Given the description of an element on the screen output the (x, y) to click on. 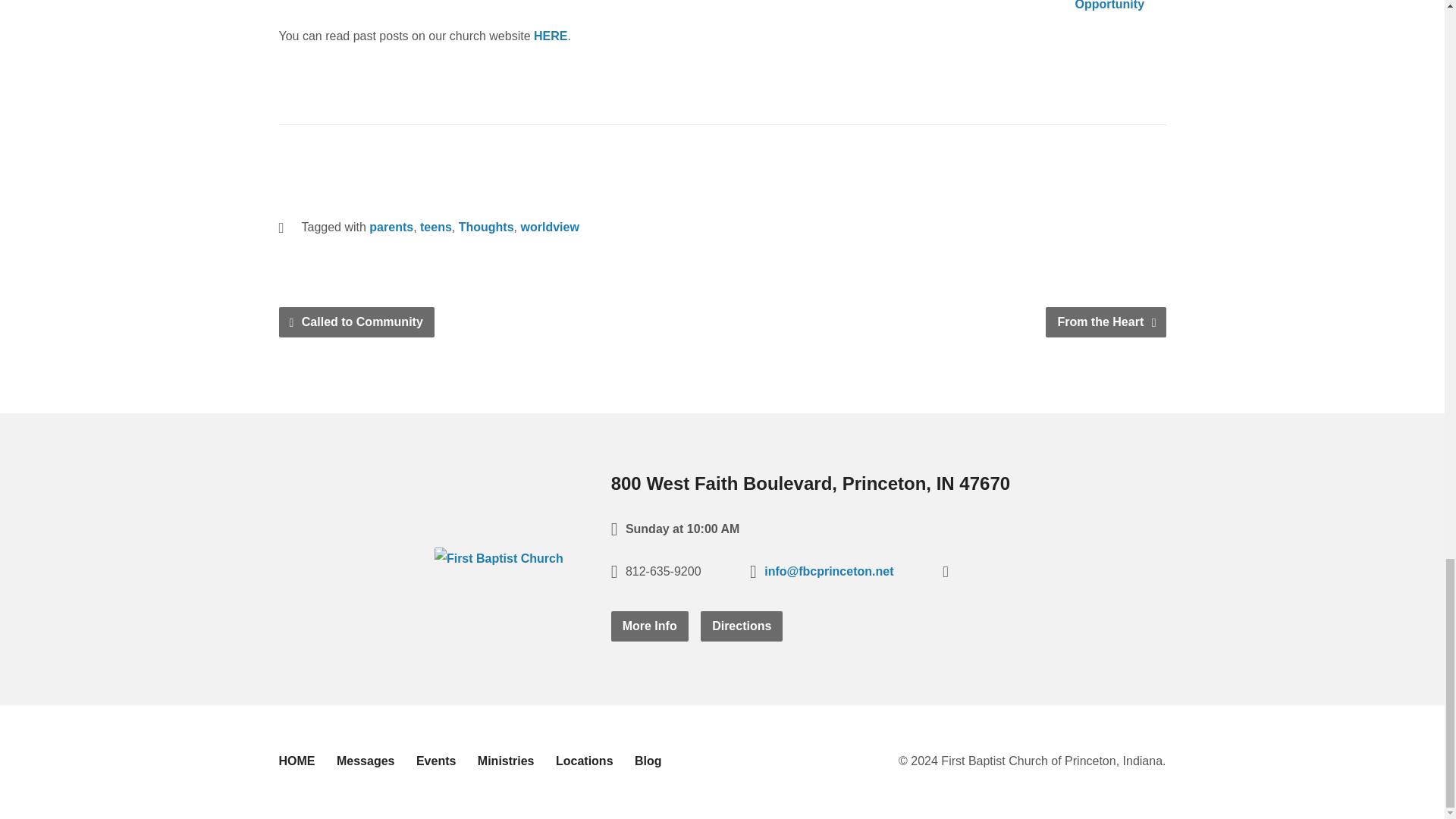
First Baptist Church (498, 558)
